Given the description of an element on the screen output the (x, y) to click on. 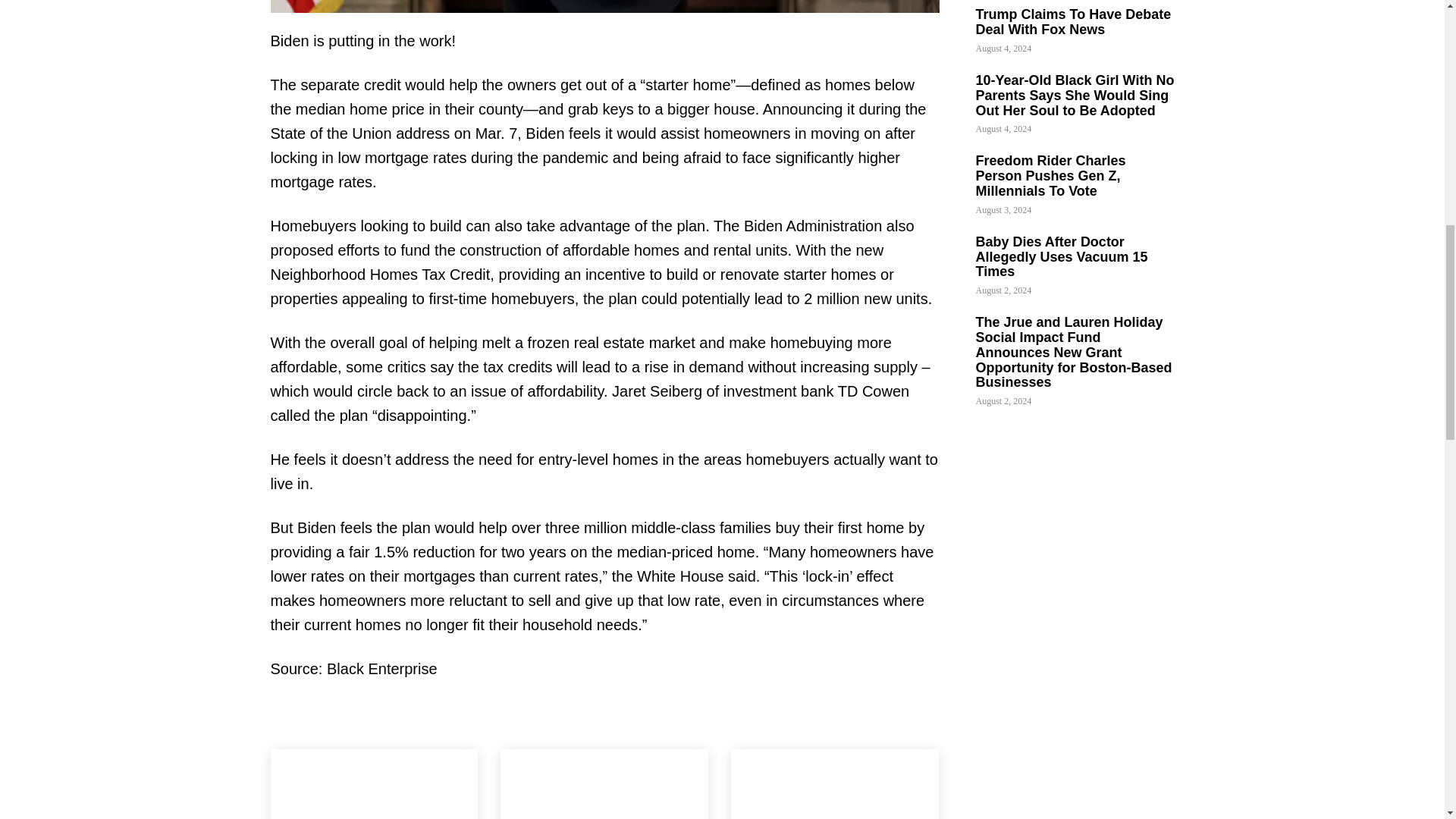
Trump Claims To Have Debate Deal With Fox News (373, 784)
